Given the description of an element on the screen output the (x, y) to click on. 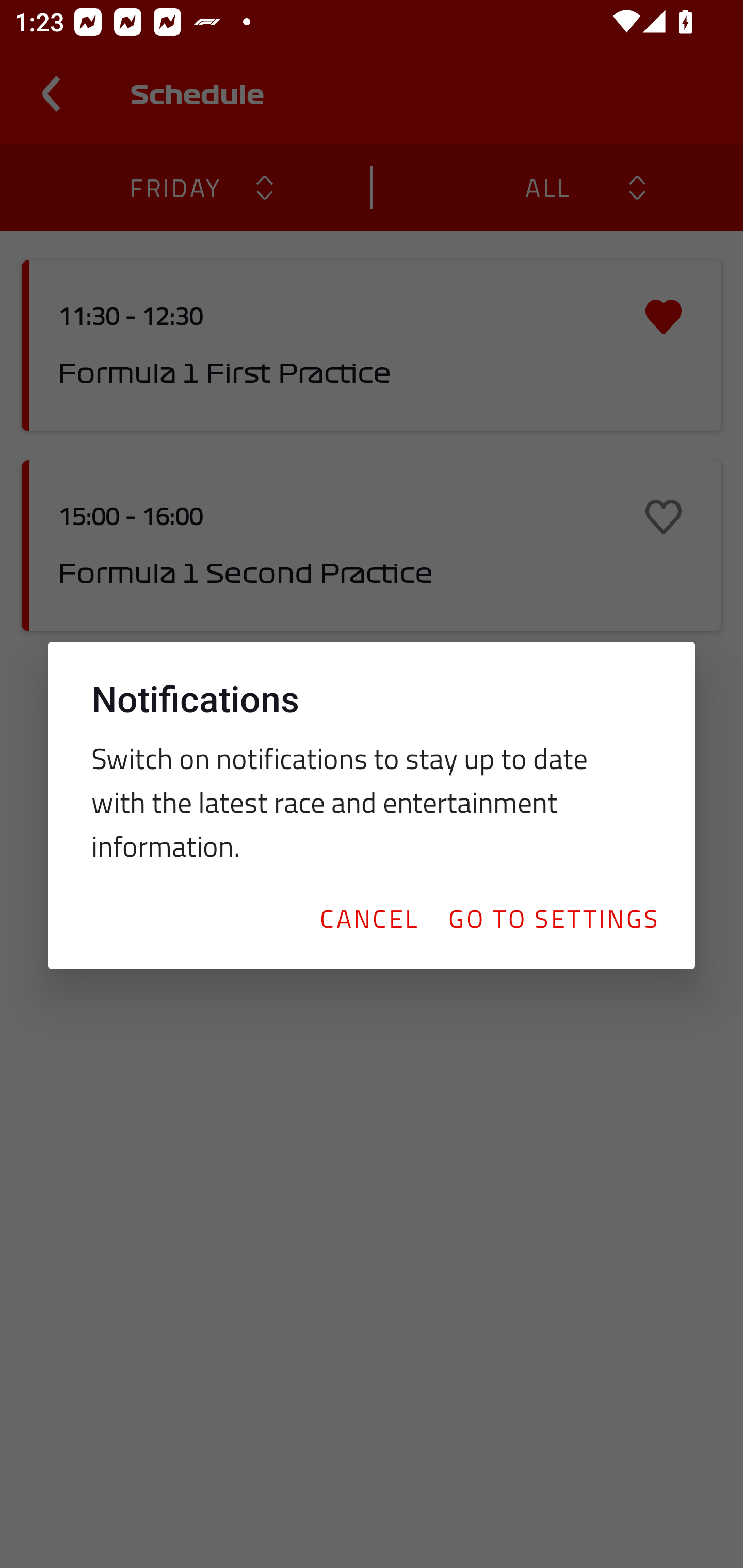
CANCEL (367, 917)
GO TO SETTINGS (552, 917)
